Given the description of an element on the screen output the (x, y) to click on. 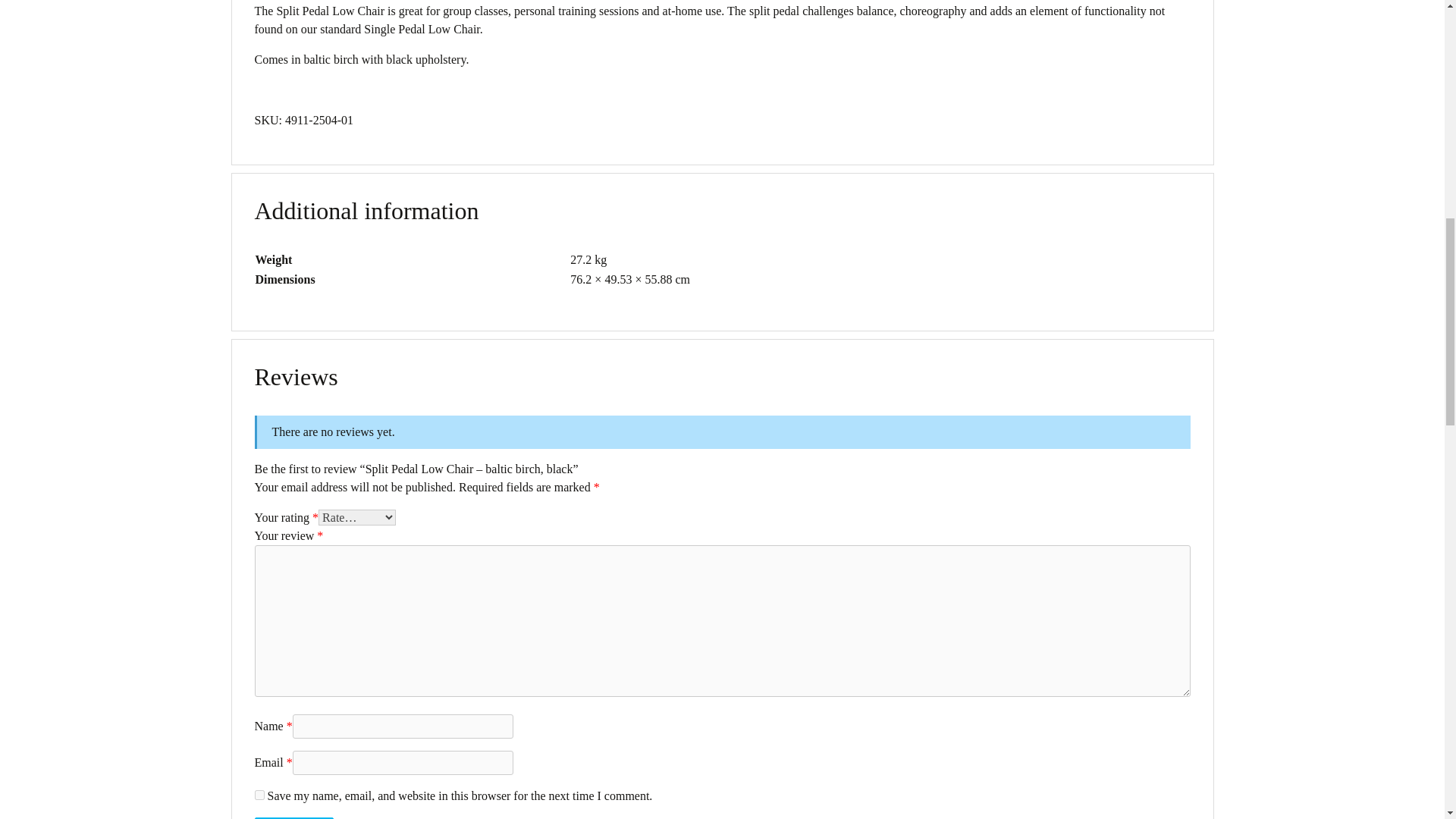
yes (259, 795)
Submit (293, 818)
